Given the description of an element on the screen output the (x, y) to click on. 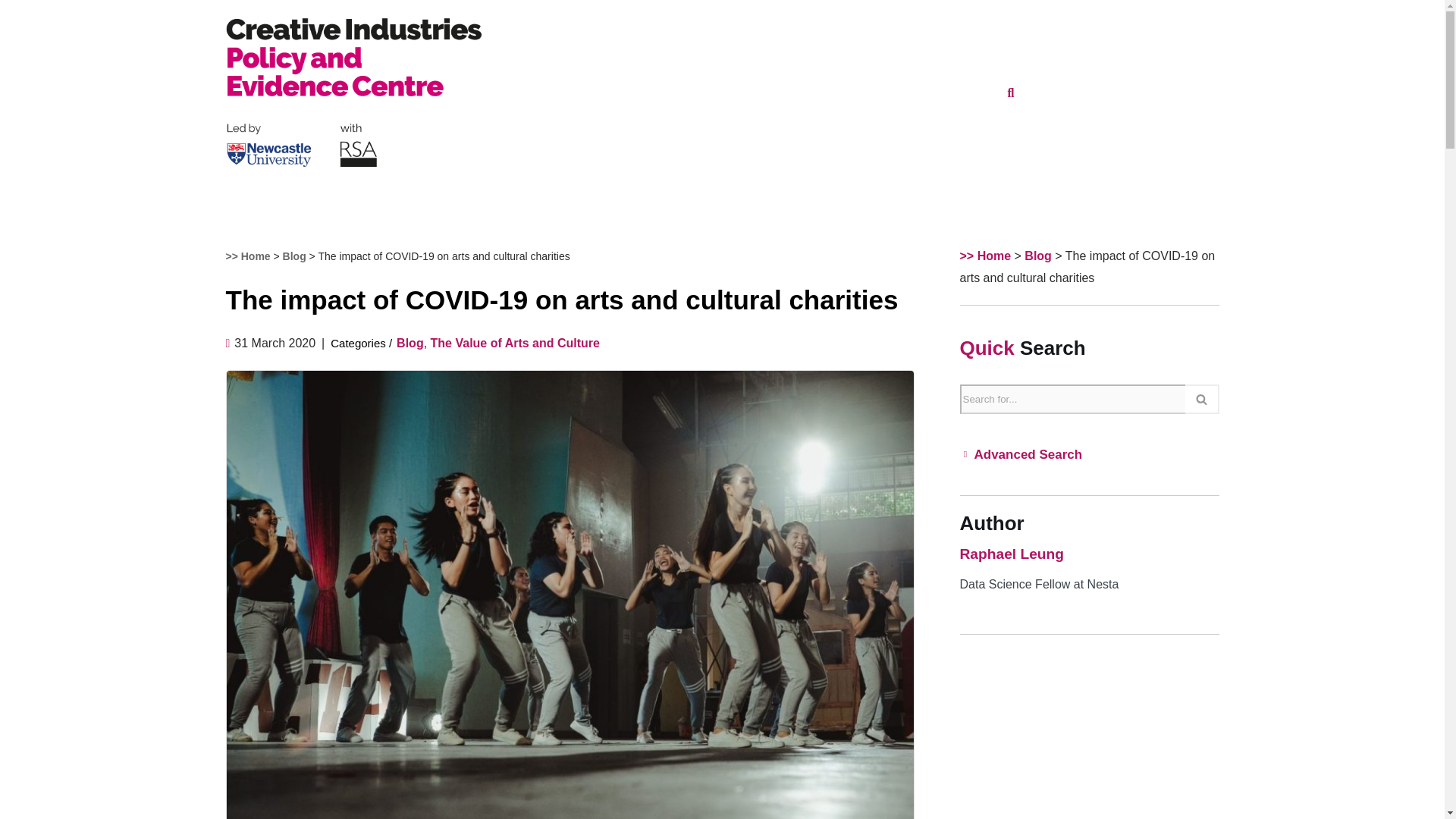
Raphael Leung (1011, 553)
About (951, 91)
Research (627, 91)
People (706, 91)
Events (841, 91)
Blog (898, 91)
Policy (773, 91)
Skip to content (11, 31)
